Given the description of an element on the screen output the (x, y) to click on. 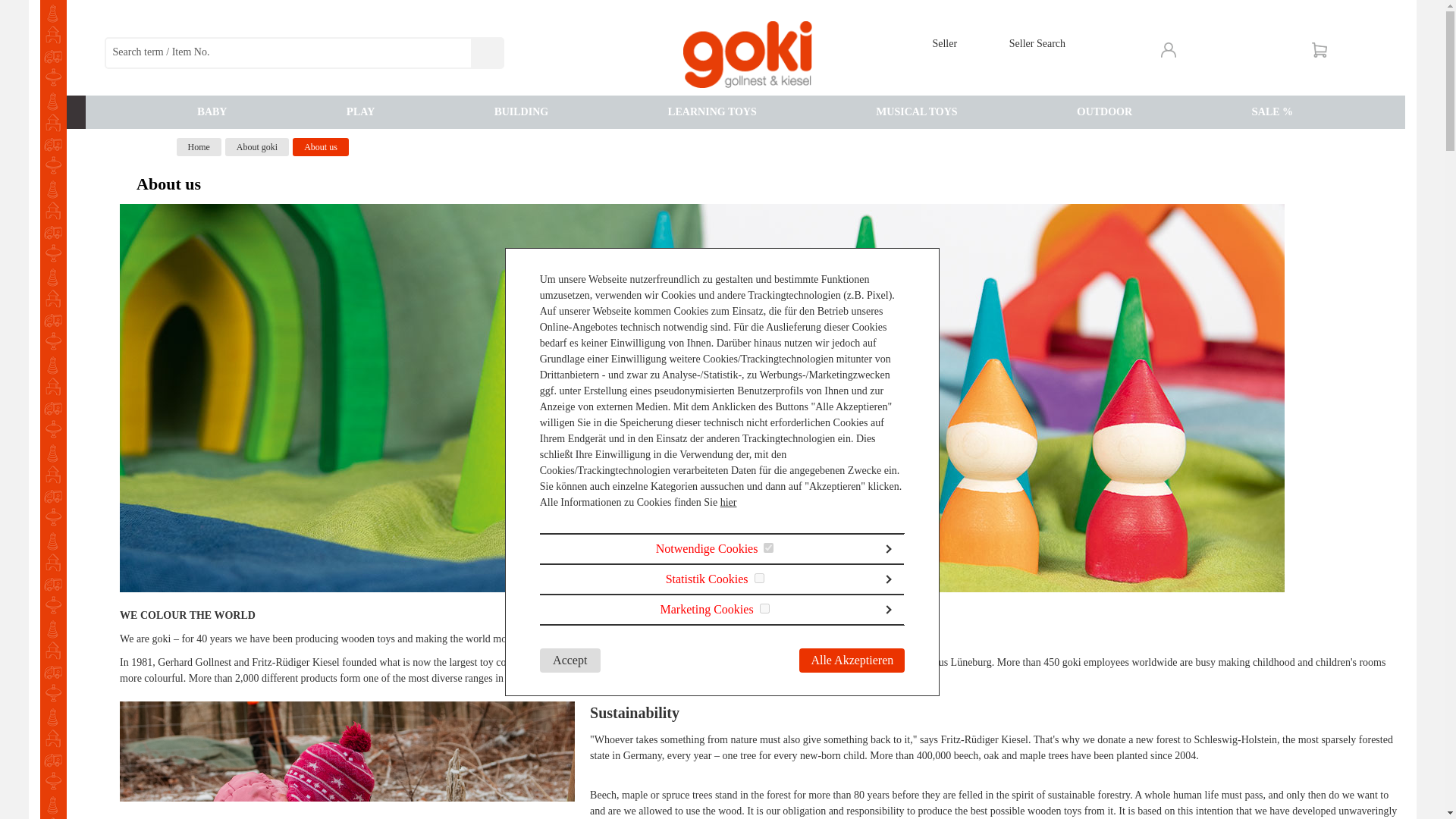
BABY (211, 111)
true (759, 578)
BUILDING (521, 111)
Seller (943, 43)
Home (198, 147)
Seller Search (1037, 43)
true (765, 608)
PLAY (360, 111)
Search (486, 52)
